Given the description of an element on the screen output the (x, y) to click on. 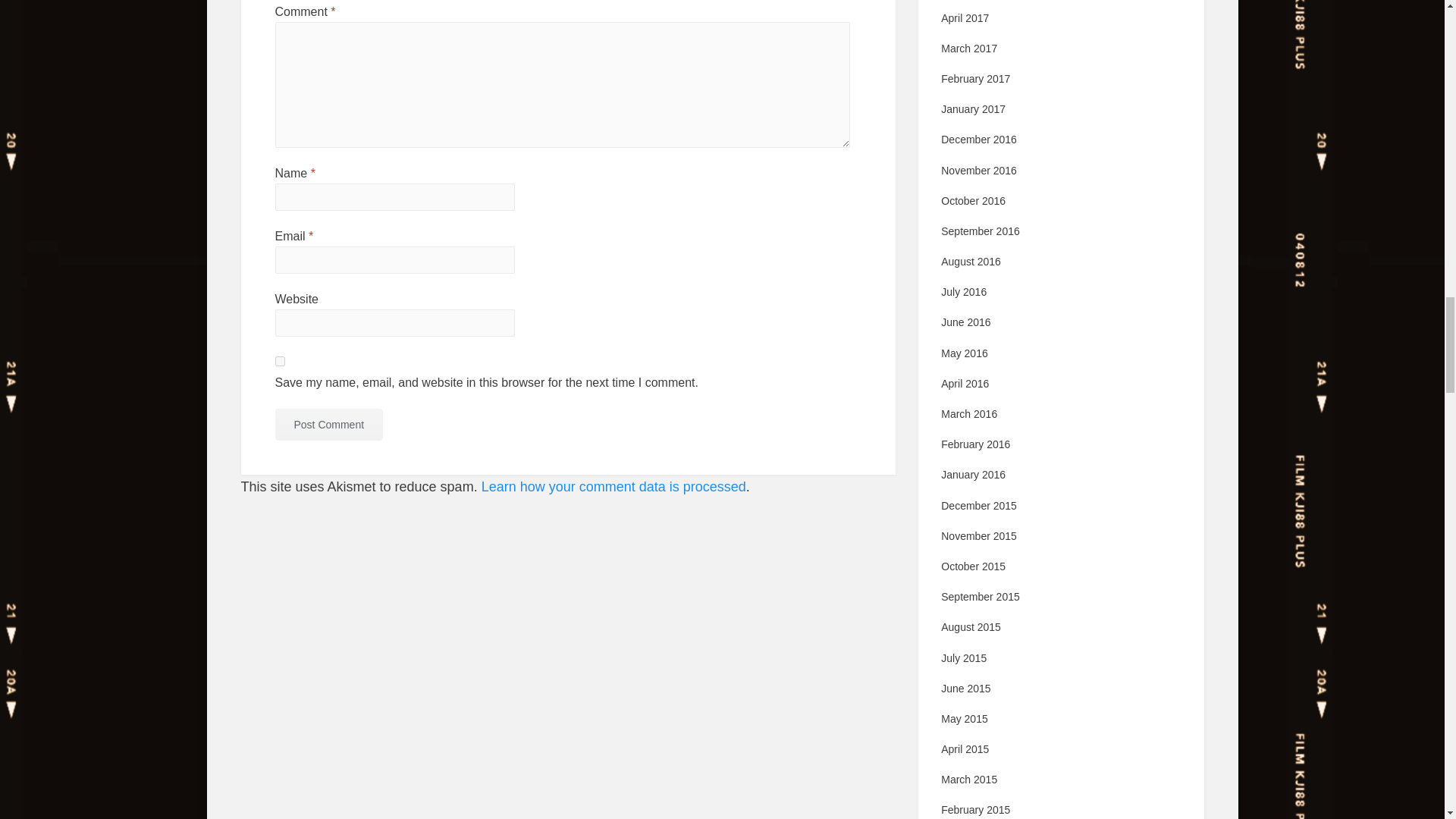
Post Comment (328, 423)
yes (279, 361)
